Given the description of an element on the screen output the (x, y) to click on. 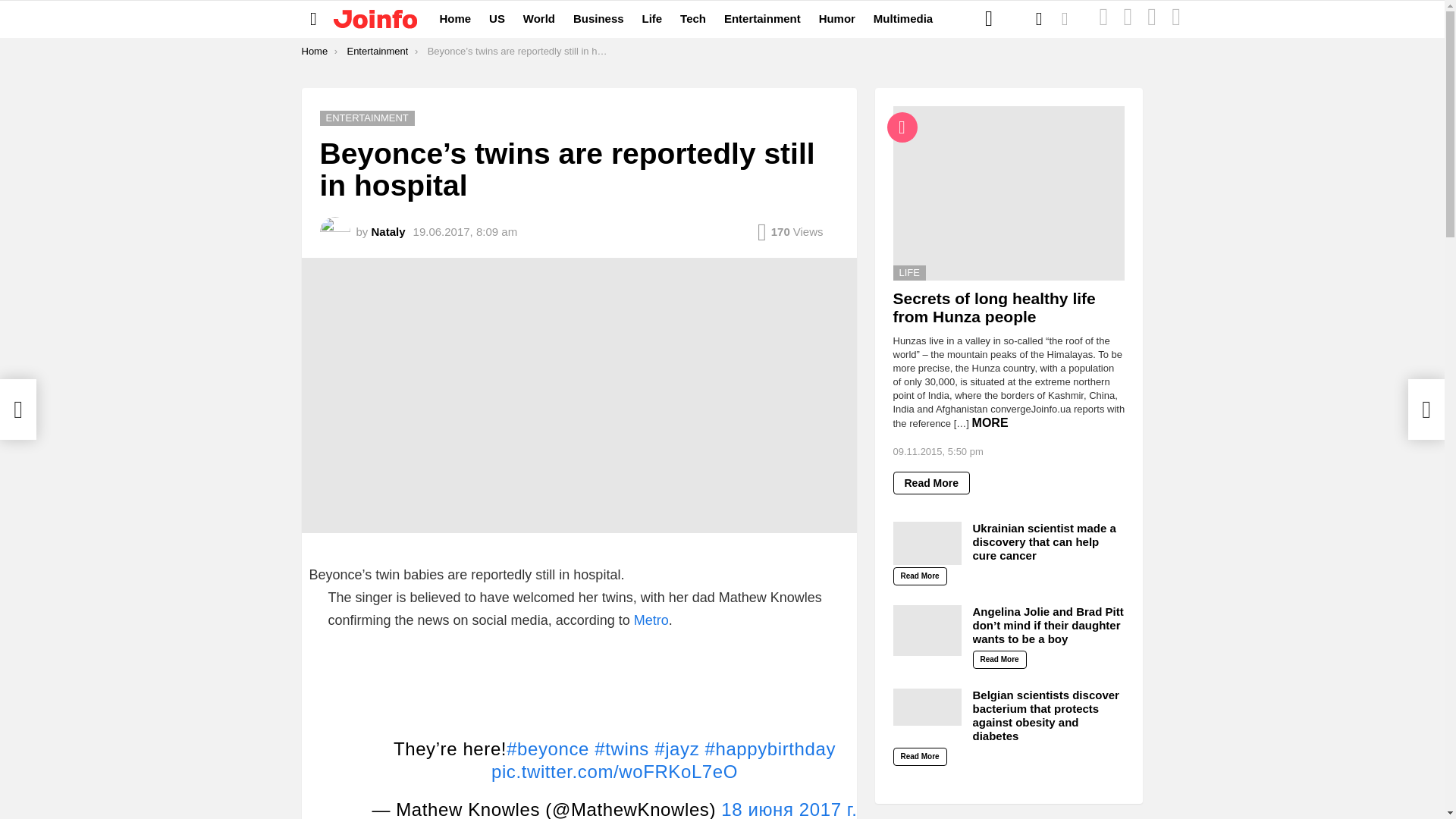
ENTERTAINMENT (367, 118)
Home (315, 50)
Posts by Nataly (388, 231)
LATEST (1103, 18)
TRENDING (1176, 18)
Tech (692, 18)
Nataly (388, 231)
facebook (989, 18)
Business (598, 18)
Home (455, 18)
Entertainment (376, 50)
Multimedia (903, 18)
Menu (313, 18)
US (496, 18)
HOT (1151, 18)
